Given the description of an element on the screen output the (x, y) to click on. 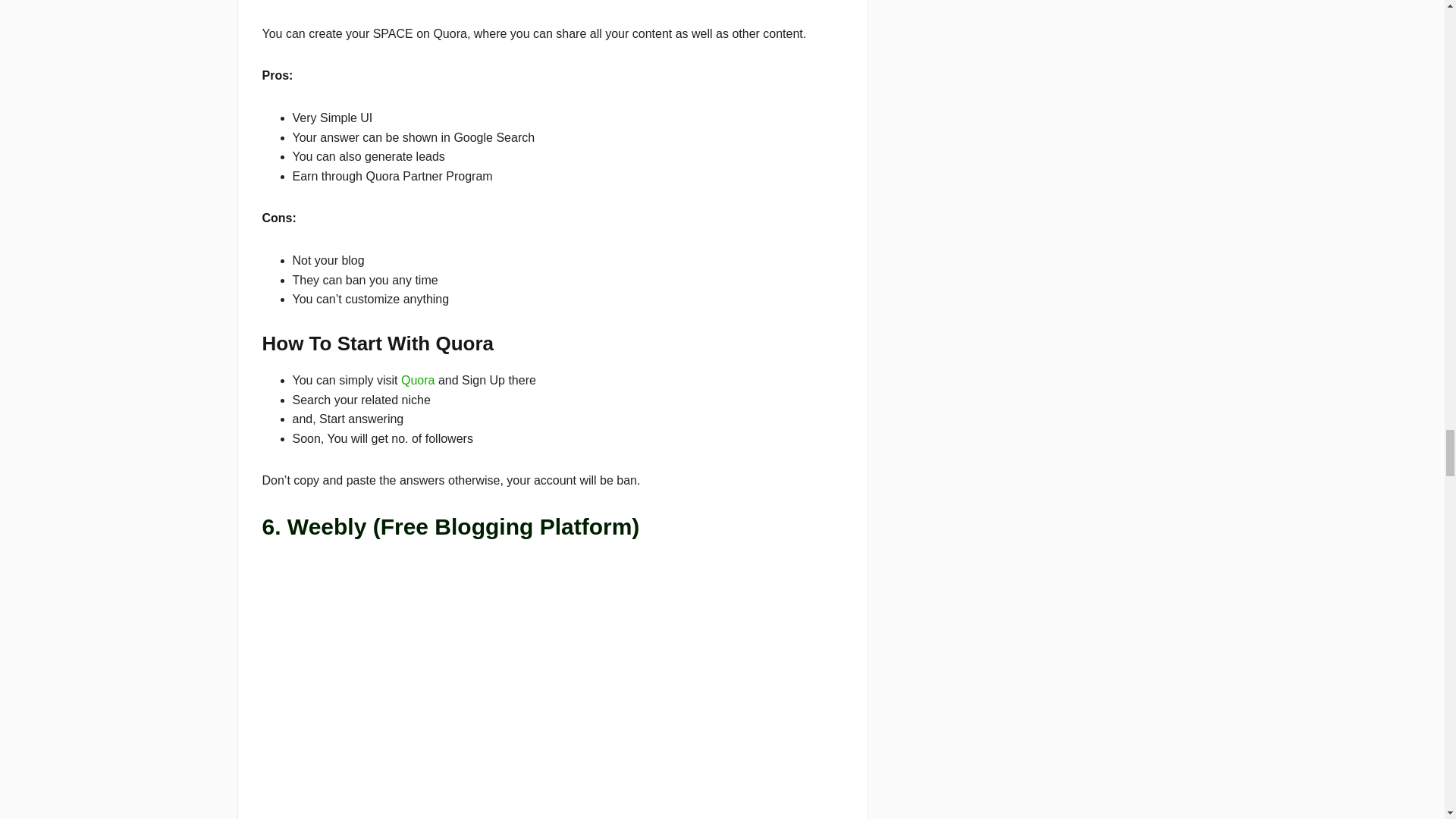
Quora (417, 379)
